Given the description of an element on the screen output the (x, y) to click on. 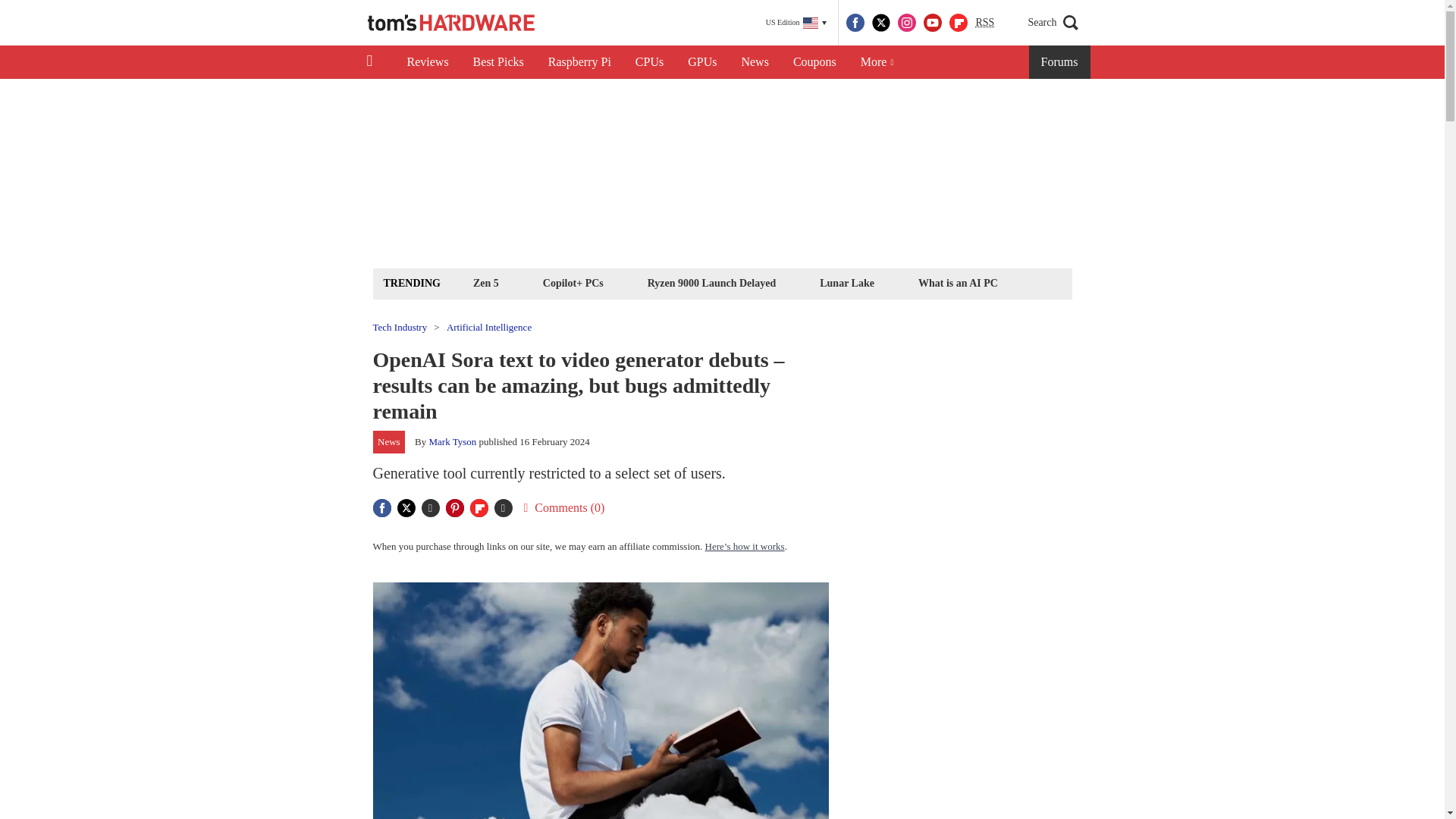
Zen 5 (485, 282)
Coupons (814, 61)
Raspberry Pi (579, 61)
Reviews (427, 61)
RSS (984, 22)
CPUs (649, 61)
Forums (1059, 61)
US Edition (796, 22)
GPUs (702, 61)
Best Picks (498, 61)
Really Simple Syndication (984, 21)
News (754, 61)
